Given the description of an element on the screen output the (x, y) to click on. 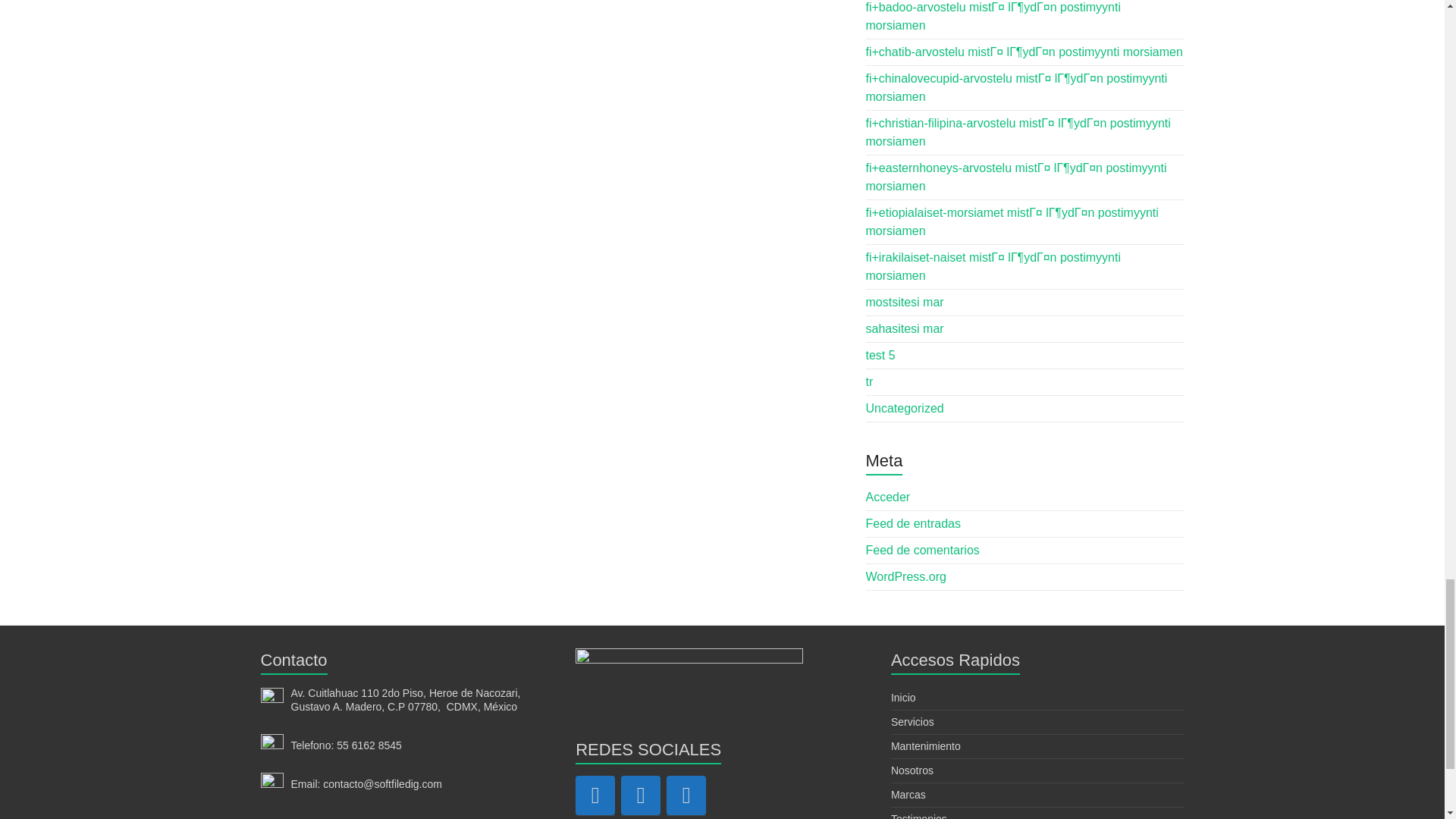
Facebook (594, 794)
Instagram (641, 794)
LinkedIn (686, 794)
